Given the description of an element on the screen output the (x, y) to click on. 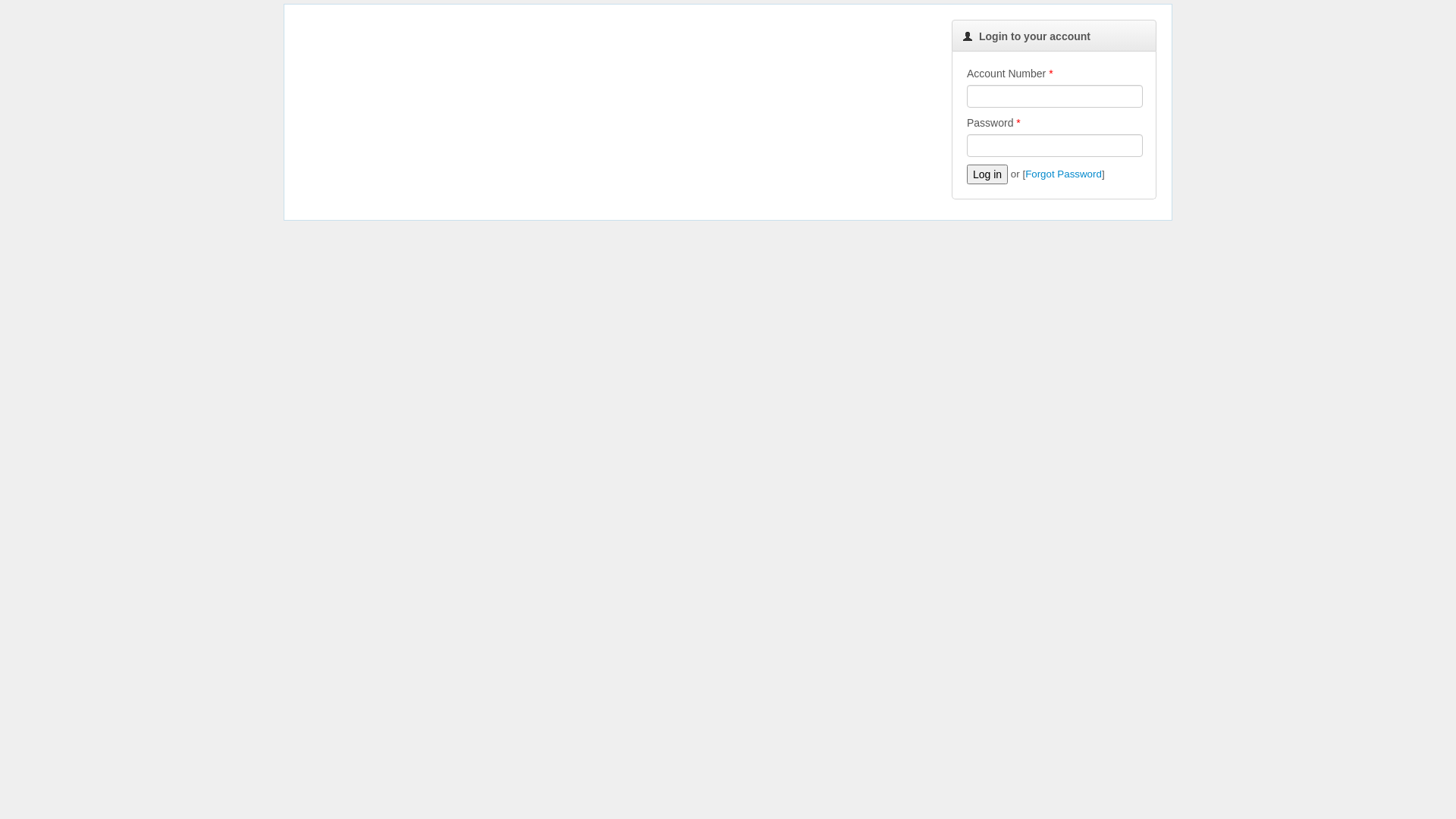
Forgot Password Element type: text (1063, 173)
Log in Element type: text (986, 174)
